Given the description of an element on the screen output the (x, y) to click on. 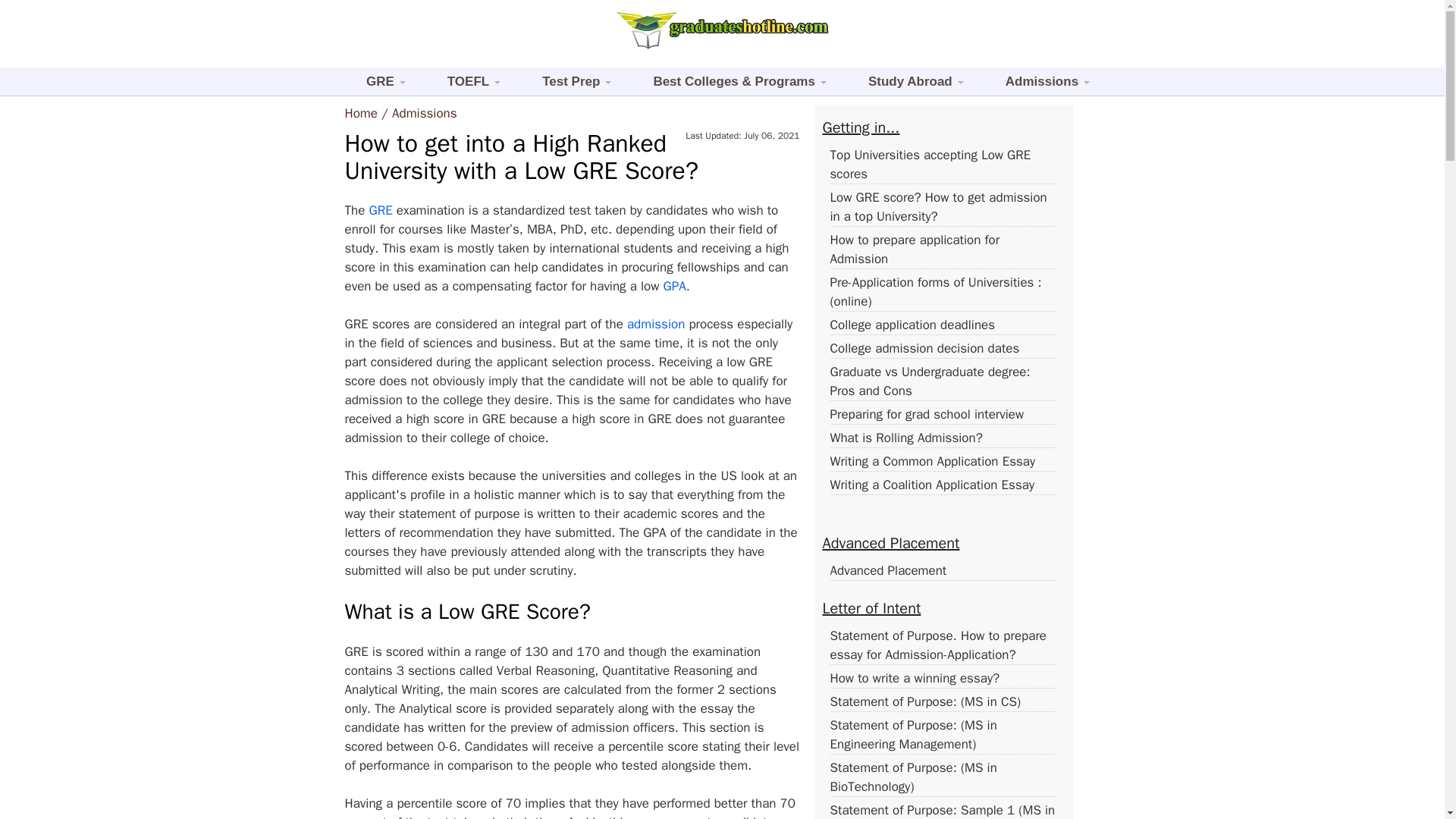
GRE (379, 81)
TOEFL (467, 81)
Test Prep (570, 81)
